Given the description of an element on the screen output the (x, y) to click on. 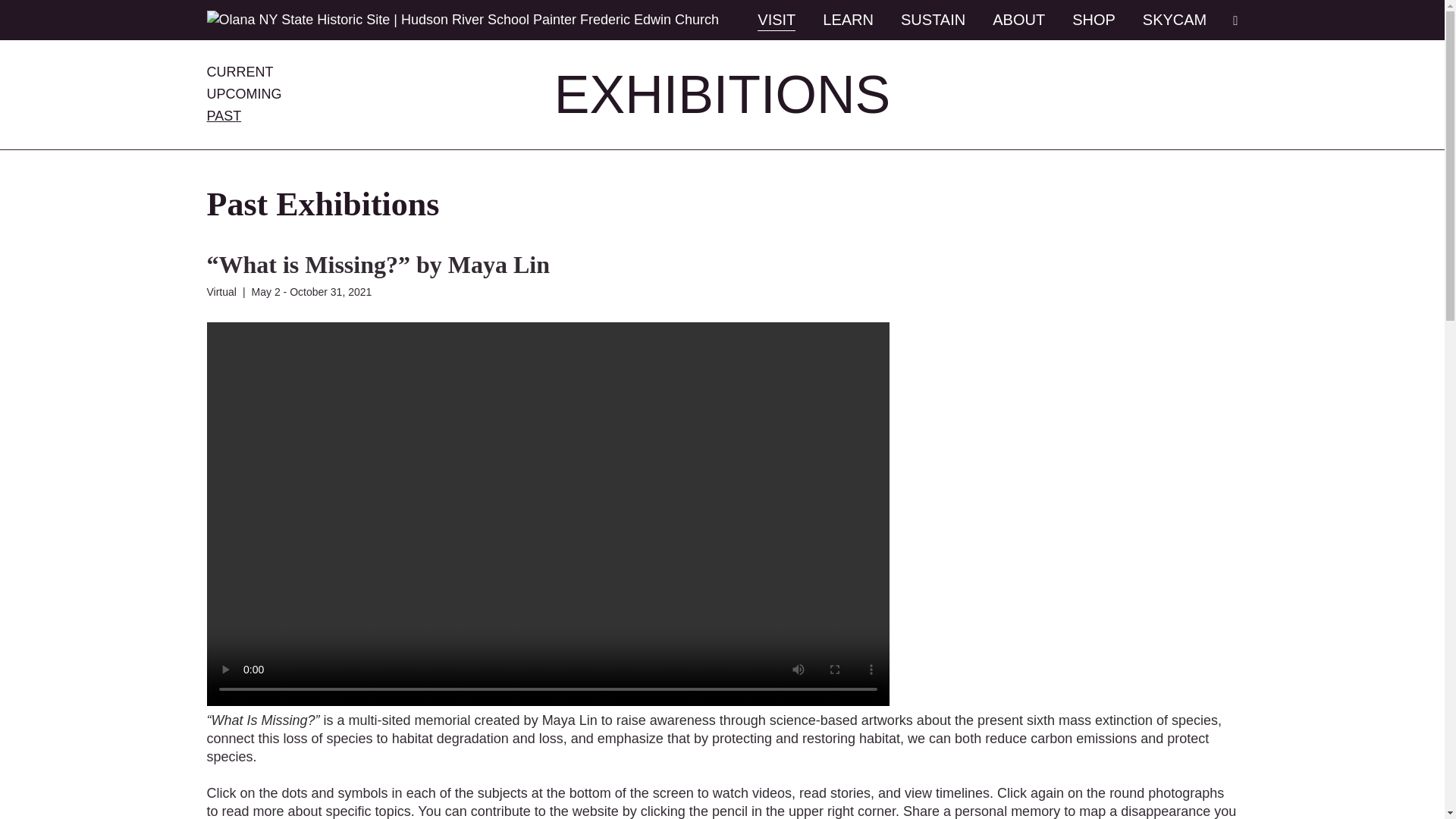
UPCOMING (243, 93)
VISIT (775, 19)
SHOP (1093, 19)
LEARN (847, 19)
SKYCAM (1174, 19)
ABOUT (1018, 19)
SUSTAIN (933, 19)
EXHIBITIONS (721, 94)
CURRENT (239, 71)
PAST (223, 115)
